Given the description of an element on the screen output the (x, y) to click on. 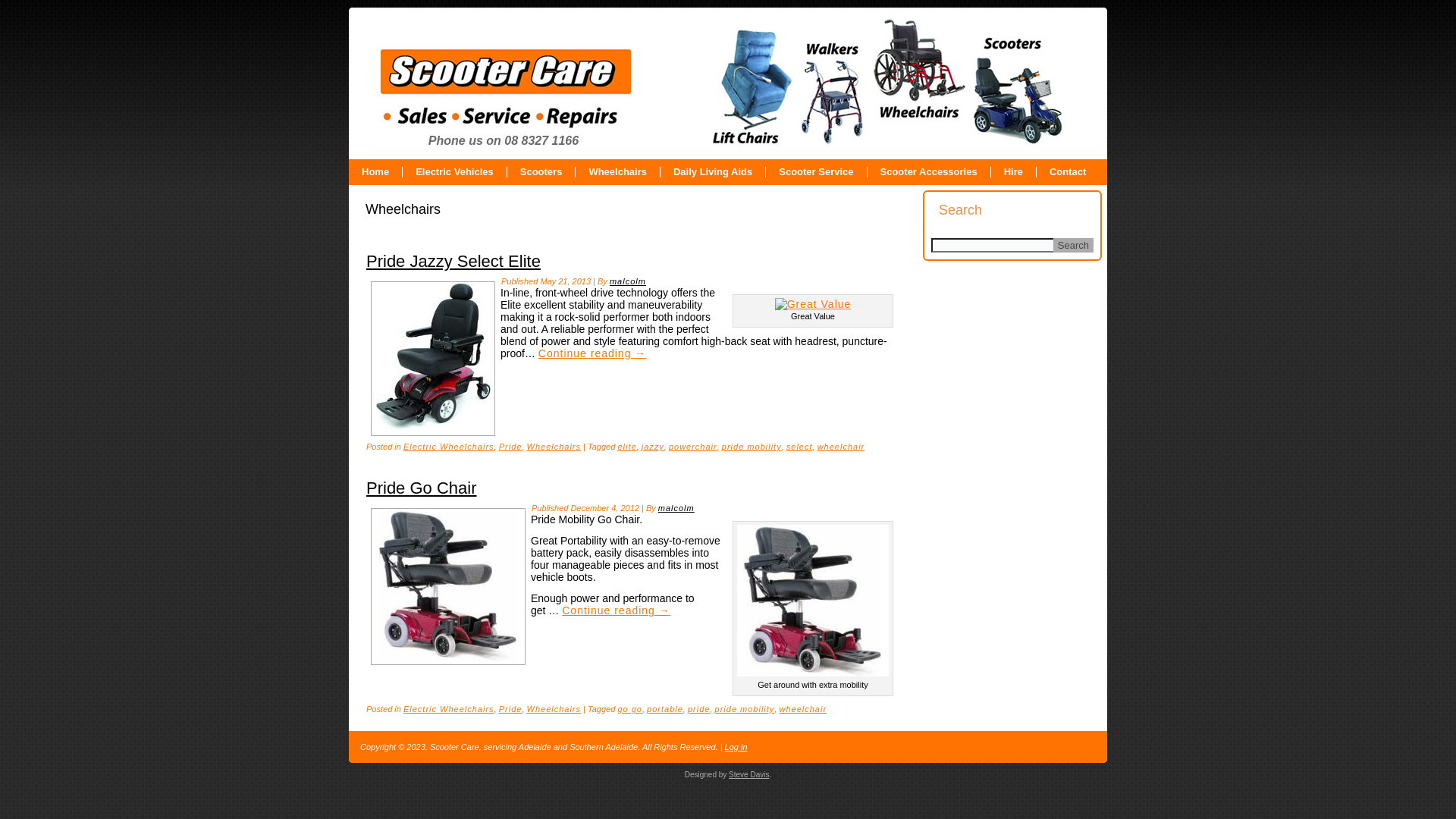
Steve Davis Element type: text (748, 774)
Pride Element type: text (510, 708)
Home Element type: text (374, 172)
elite Element type: text (626, 446)
Pride Go Chair Element type: hover (448, 585)
malcolm Element type: text (676, 507)
Pride Jazzy Select Elite Element type: hover (432, 428)
Scooters Element type: text (541, 172)
Log in Element type: text (735, 746)
Hire Element type: text (1013, 172)
Scooter Accessories Element type: text (928, 172)
pride mobility Element type: text (745, 708)
portable Element type: text (664, 708)
wheelchair Element type: text (841, 446)
pride mobility Element type: text (751, 446)
Scooter Service Element type: text (815, 172)
Electric Wheelchairs Element type: text (448, 708)
Pride Go Chair Element type: hover (448, 657)
go go Element type: text (629, 708)
Electric Vehicles Element type: text (454, 172)
powerchair Element type: text (692, 446)
Contact Element type: text (1067, 172)
Pride Jazzy Select Elite Element type: text (453, 260)
Daily Living Aids Element type: text (712, 172)
jazzy Element type: text (652, 446)
wheelchair Element type: text (802, 708)
Pride Jazzy Select Elite Element type: hover (432, 357)
Wheelchairs Element type: text (554, 708)
Wheelchairs Element type: text (617, 172)
select Element type: text (799, 446)
Pride Element type: text (510, 446)
Pride Go Chair Element type: text (421, 487)
go_chair-web Element type: hover (812, 600)
Wheelchairs Element type: text (554, 446)
malcolm Element type: text (627, 280)
Electric Wheelchairs Element type: text (448, 446)
pride Element type: text (698, 708)
Search Element type: text (1073, 245)
